Given the description of an element on the screen output the (x, y) to click on. 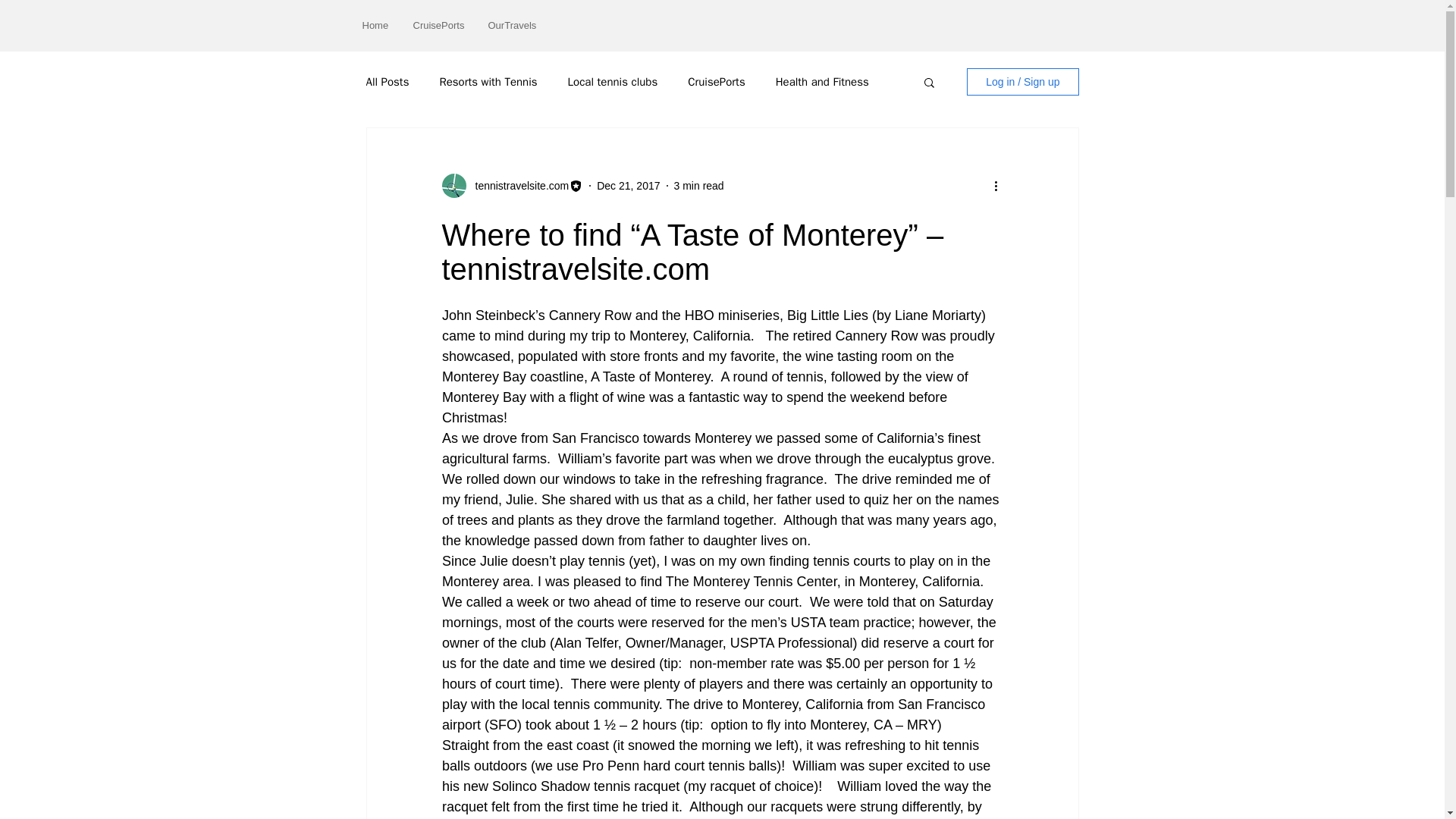
Health and Fitness (822, 81)
All Posts (387, 81)
OurTravels (511, 25)
CruisePorts (439, 25)
3 min read (698, 184)
Dec 21, 2017 (627, 184)
Home (375, 25)
Local tennis clubs (612, 81)
tennistravelsite.com (517, 185)
CruisePorts (715, 81)
Resorts with Tennis (488, 81)
